Given the description of an element on the screen output the (x, y) to click on. 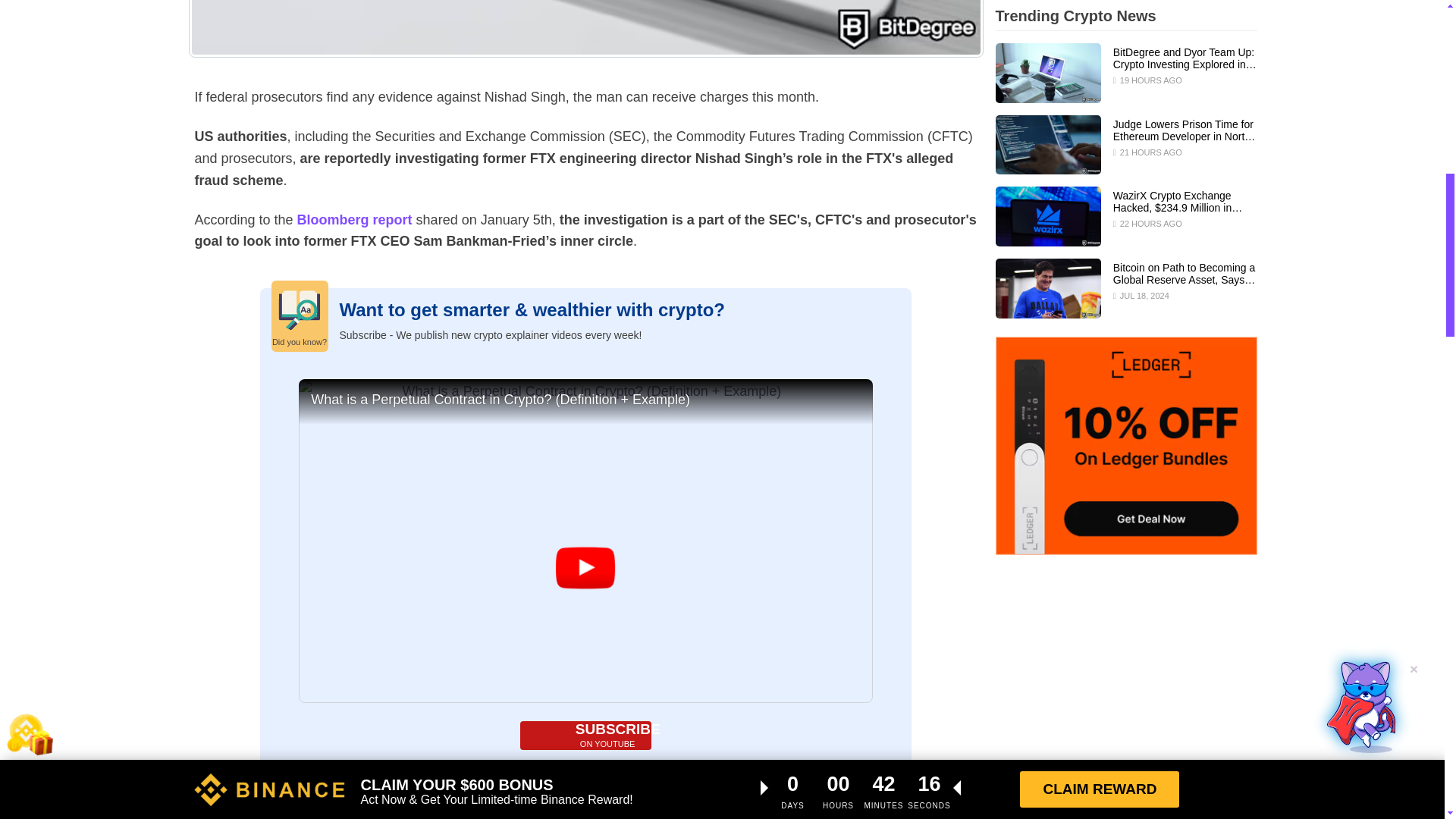
Bloomberg report (585, 735)
